Given the description of an element on the screen output the (x, y) to click on. 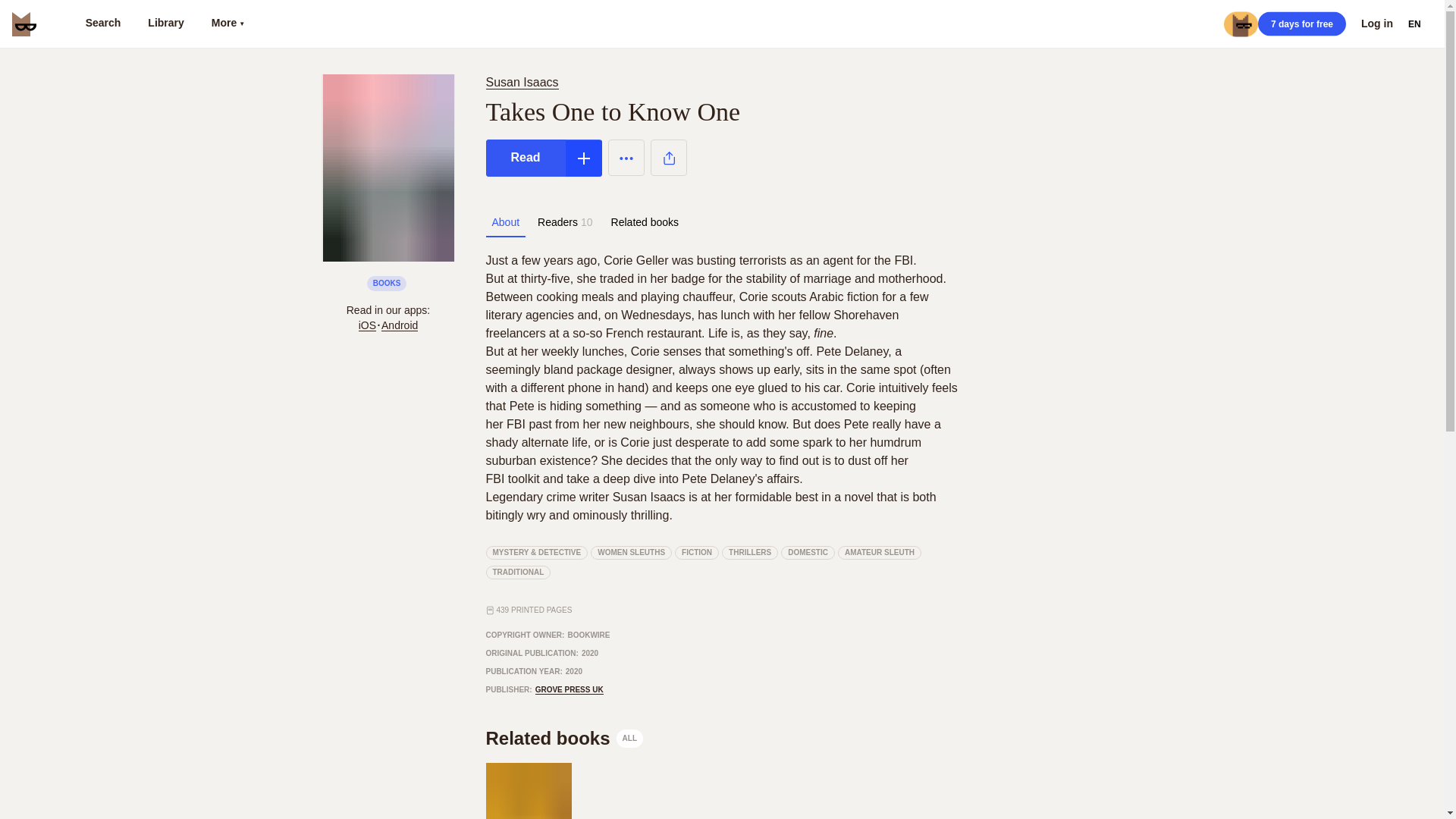
About (721, 790)
WOMEN SLEUTHS (504, 222)
AMATEUR SLEUTH (631, 552)
FICTION (879, 552)
Susan Isaacs (697, 552)
Read (524, 82)
DOMESTIC (524, 157)
THRILLERS (807, 552)
Related books (527, 790)
Susan Isaacs (749, 552)
GROVE PRESS UK (645, 222)
7 days for free (520, 82)
